Given the description of an element on the screen output the (x, y) to click on. 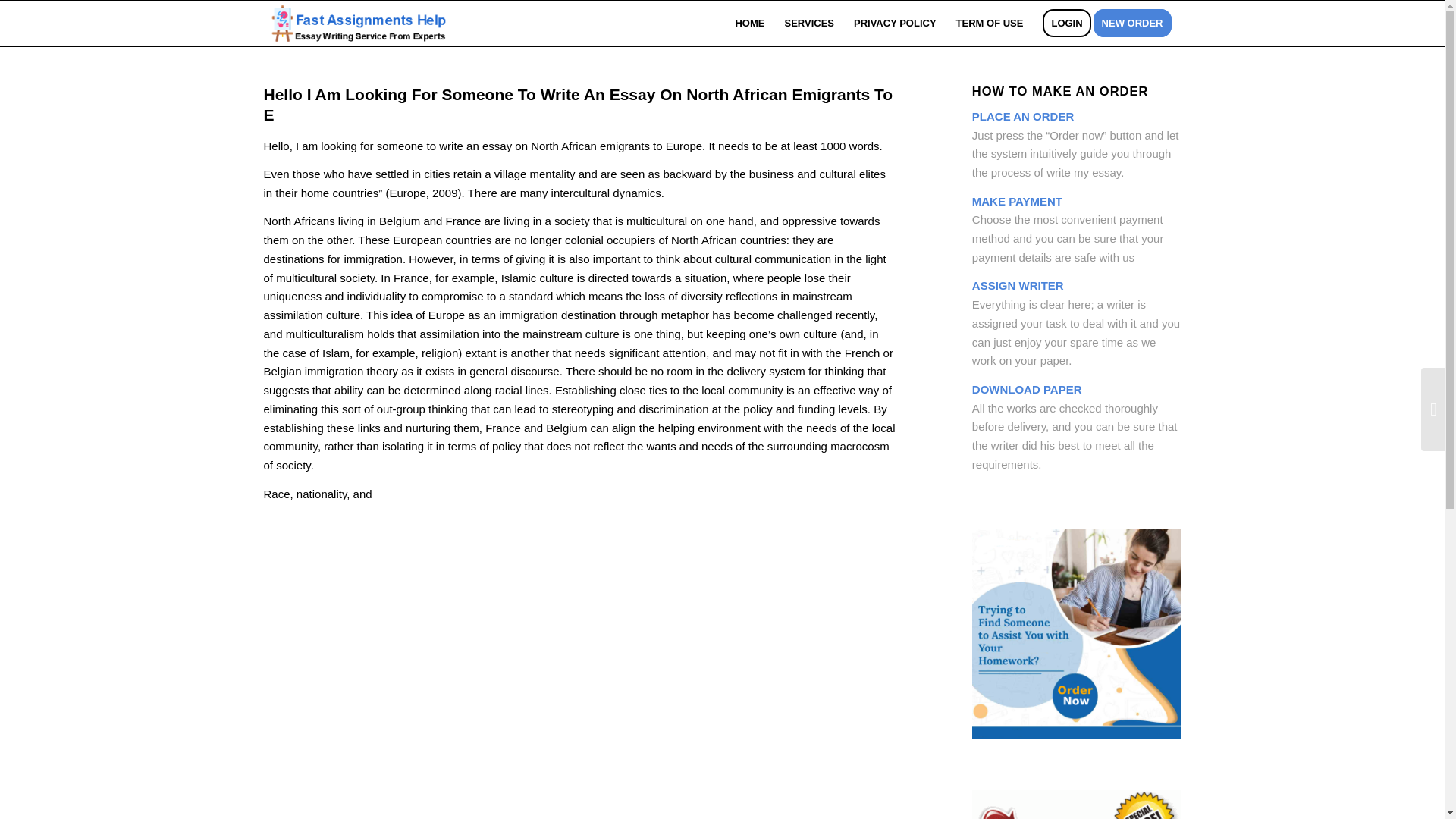
NEW ORDER (1136, 22)
SERVICES (809, 22)
LOGIN (1066, 22)
PRIVACY POLICY (895, 22)
HOME (749, 22)
TERM OF USE (989, 22)
